Given the description of an element on the screen output the (x, y) to click on. 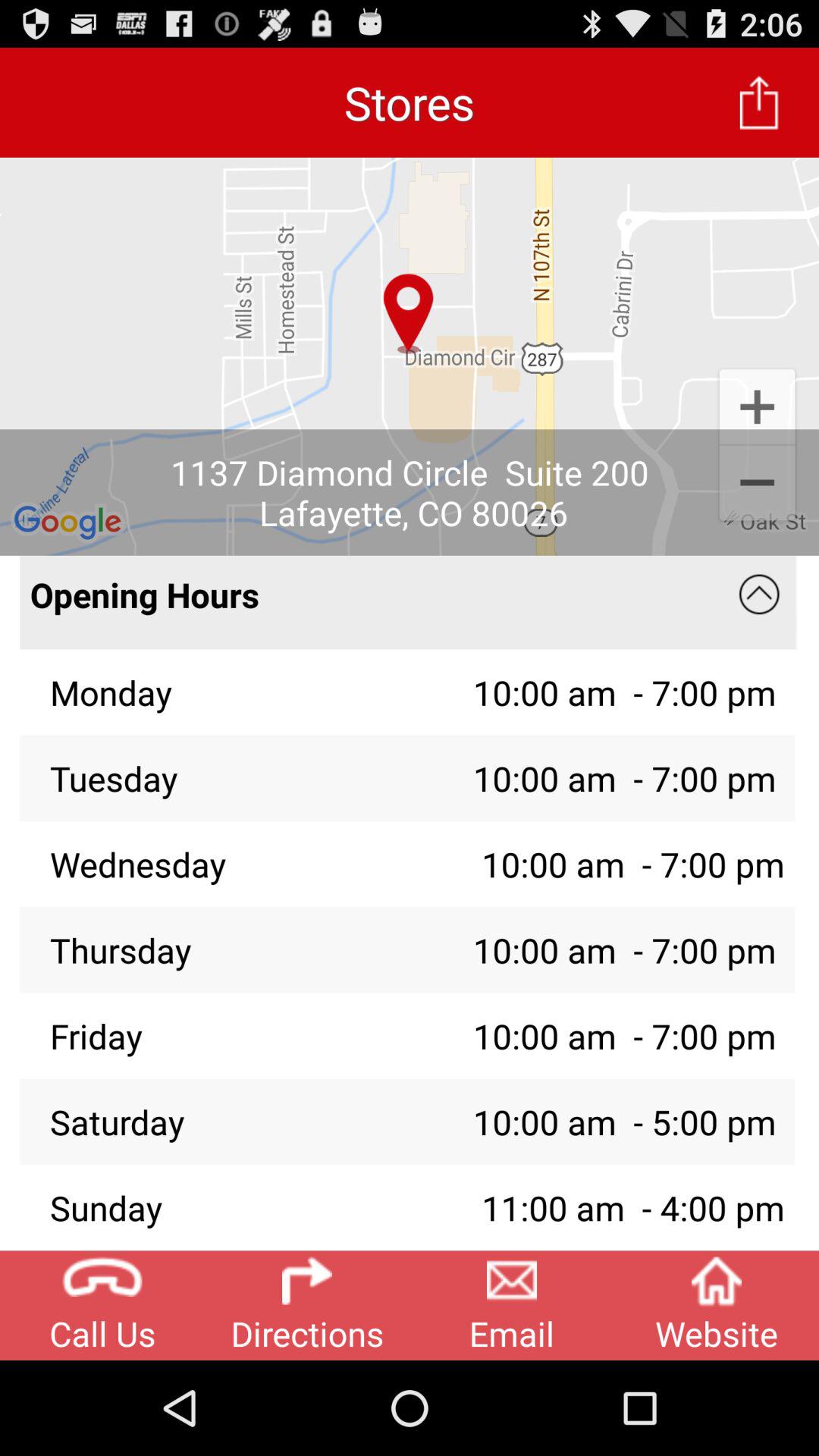
turn off the icon to the right of the stores item (759, 102)
